Given the description of an element on the screen output the (x, y) to click on. 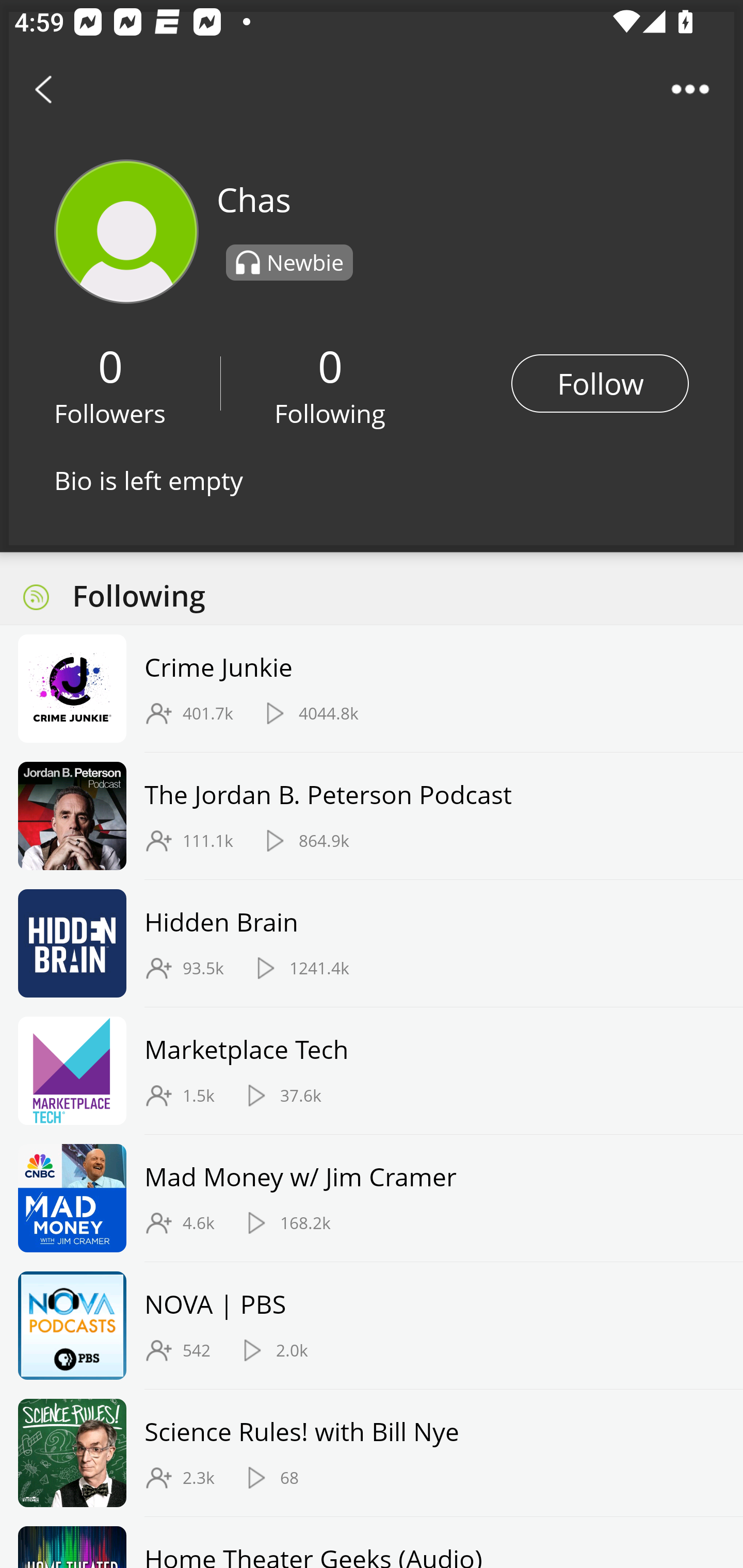
0 (110, 365)
0 (330, 365)
Follow (599, 383)
Followers (110, 413)
Following (329, 413)
Crime Junkie 401.7k 4044.8k (371, 688)
The Jordan B. Peterson Podcast 111.1k 864.9k (371, 815)
Hidden Brain 93.5k 1241.4k (371, 942)
Marketplace Tech 1.5k 37.6k (371, 1070)
Mad Money w/ Jim Cramer 4.6k 168.2k (371, 1198)
NOVA | PBS 542 2.0k (371, 1325)
Science Rules! with Bill Nye 2.3k 68 (371, 1452)
